Given the description of an element on the screen output the (x, y) to click on. 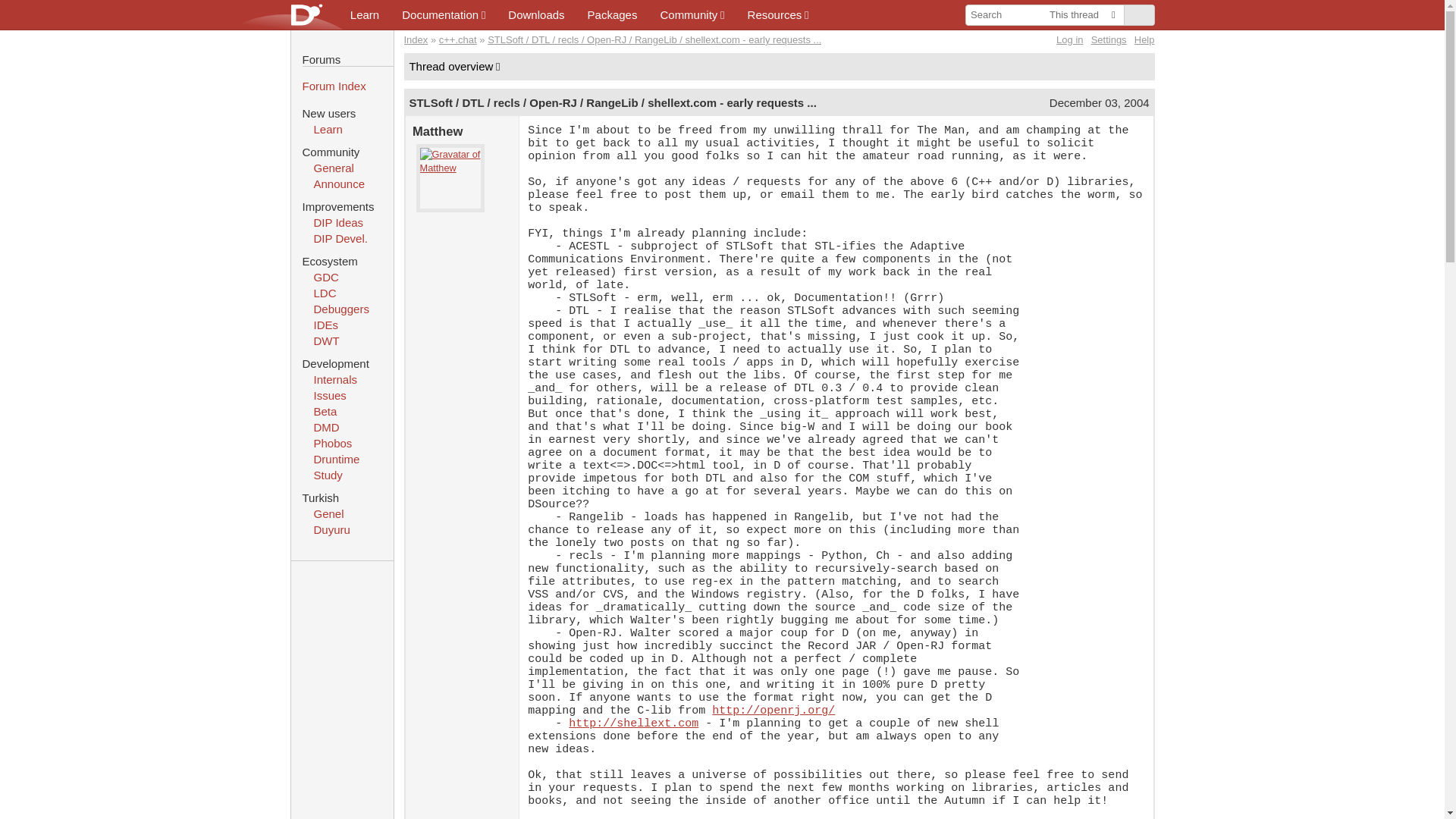
Downloads (535, 14)
Permanent link to this post (612, 102)
Documentation (443, 14)
Resources (778, 14)
Matthew's Gravatar profile (450, 178)
Learn (364, 14)
Packages (612, 14)
Community (691, 14)
